Given the description of an element on the screen output the (x, y) to click on. 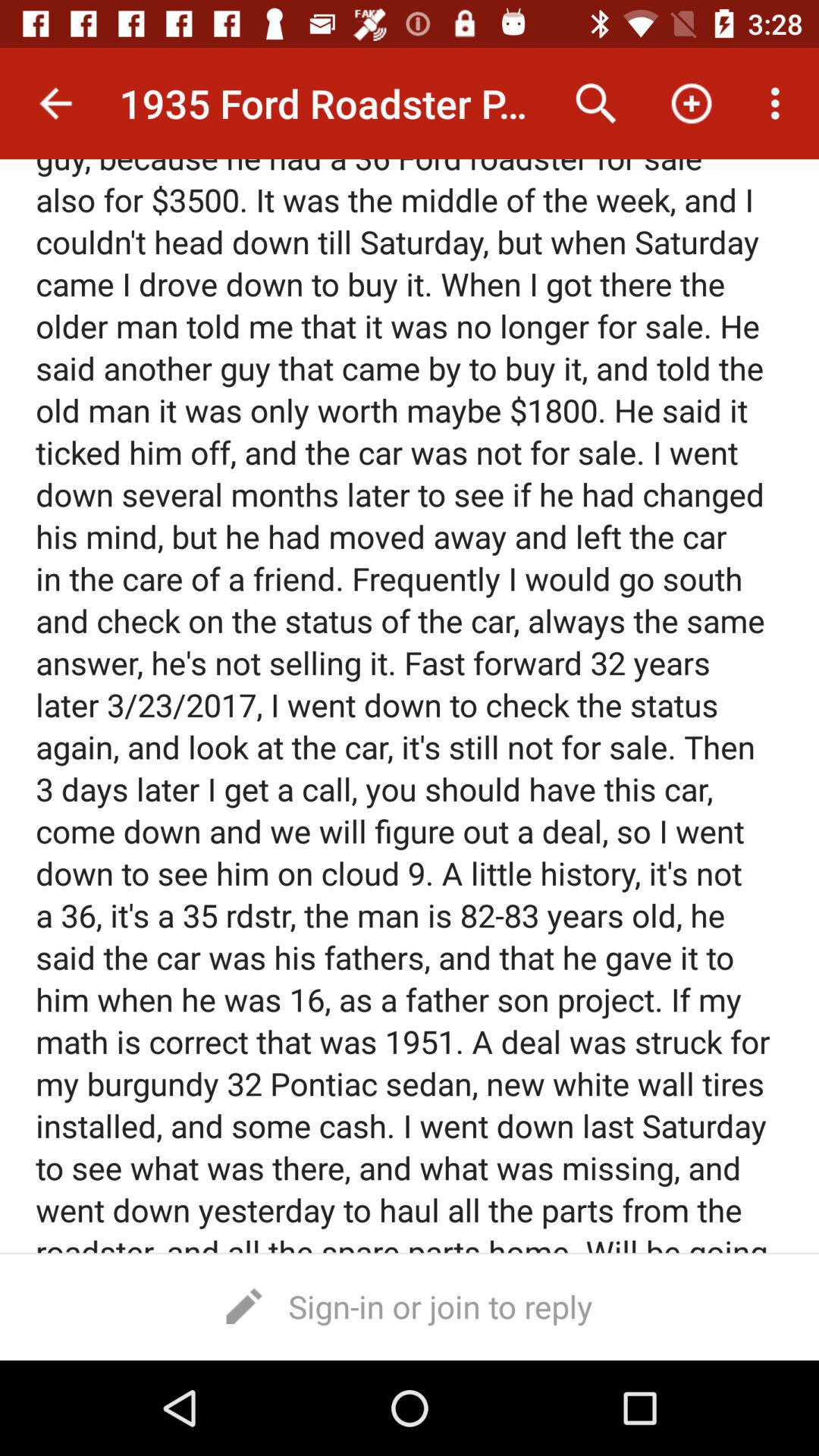
open sign-in or join page (409, 1306)
